Given the description of an element on the screen output the (x, y) to click on. 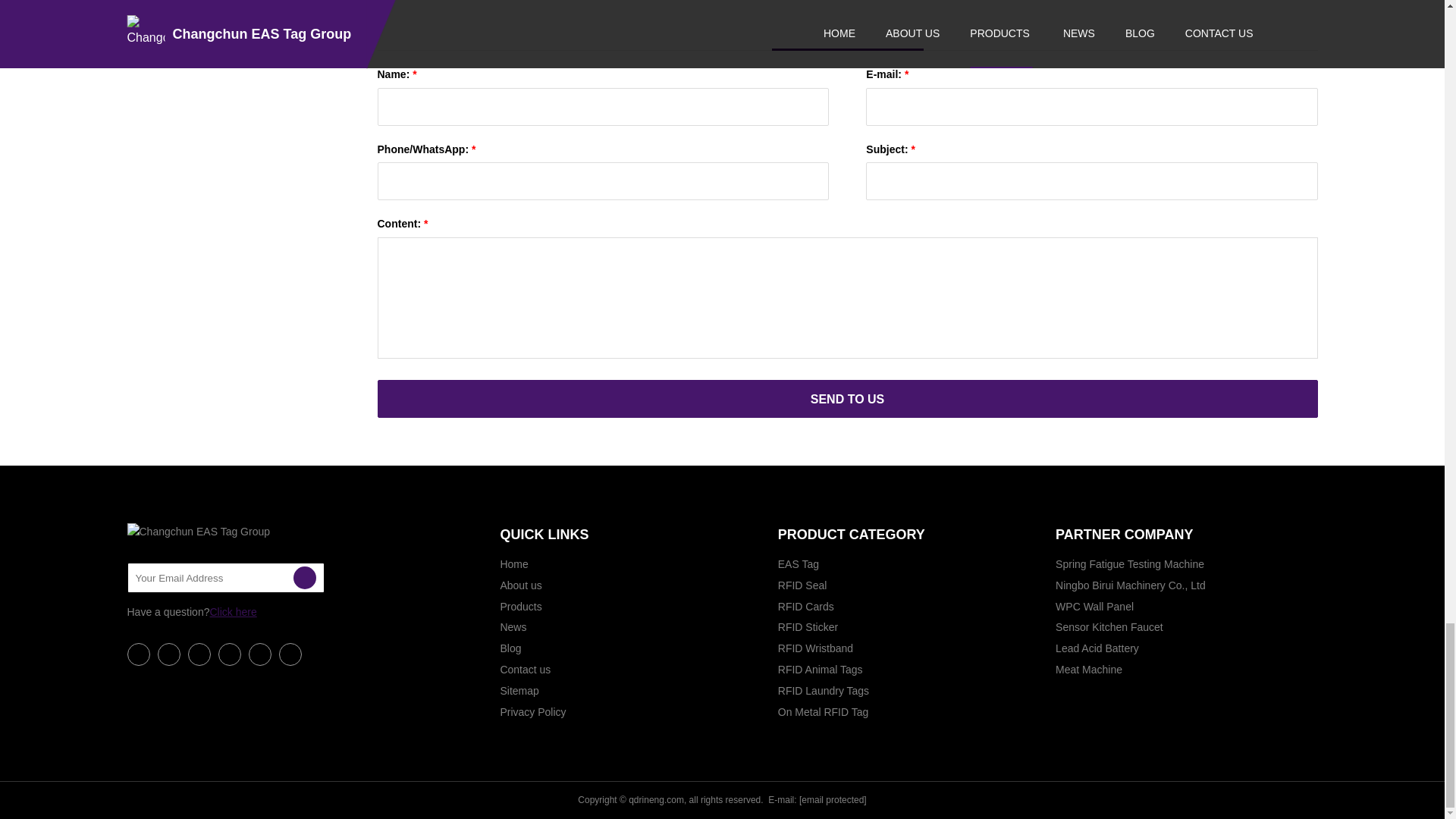
Changchun EAS Tag Group (203, 532)
youtube (229, 653)
twitter (199, 653)
Email (303, 577)
linkedin (168, 653)
instagram (259, 653)
TikTok (290, 653)
facebook (138, 653)
